Given the description of an element on the screen output the (x, y) to click on. 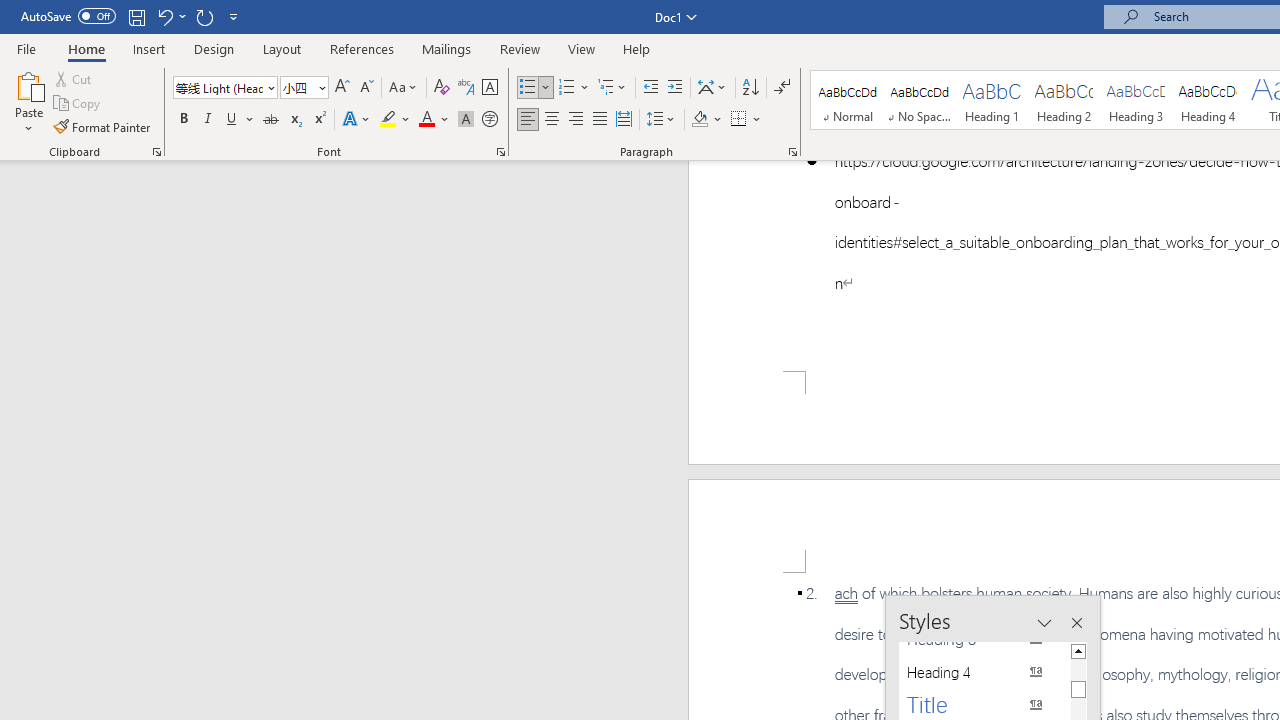
Decrease Indent (650, 87)
Clear Formatting (442, 87)
Character Shading (465, 119)
Subscript (294, 119)
Character Border (489, 87)
Grow Font (342, 87)
